Given the description of an element on the screen output the (x, y) to click on. 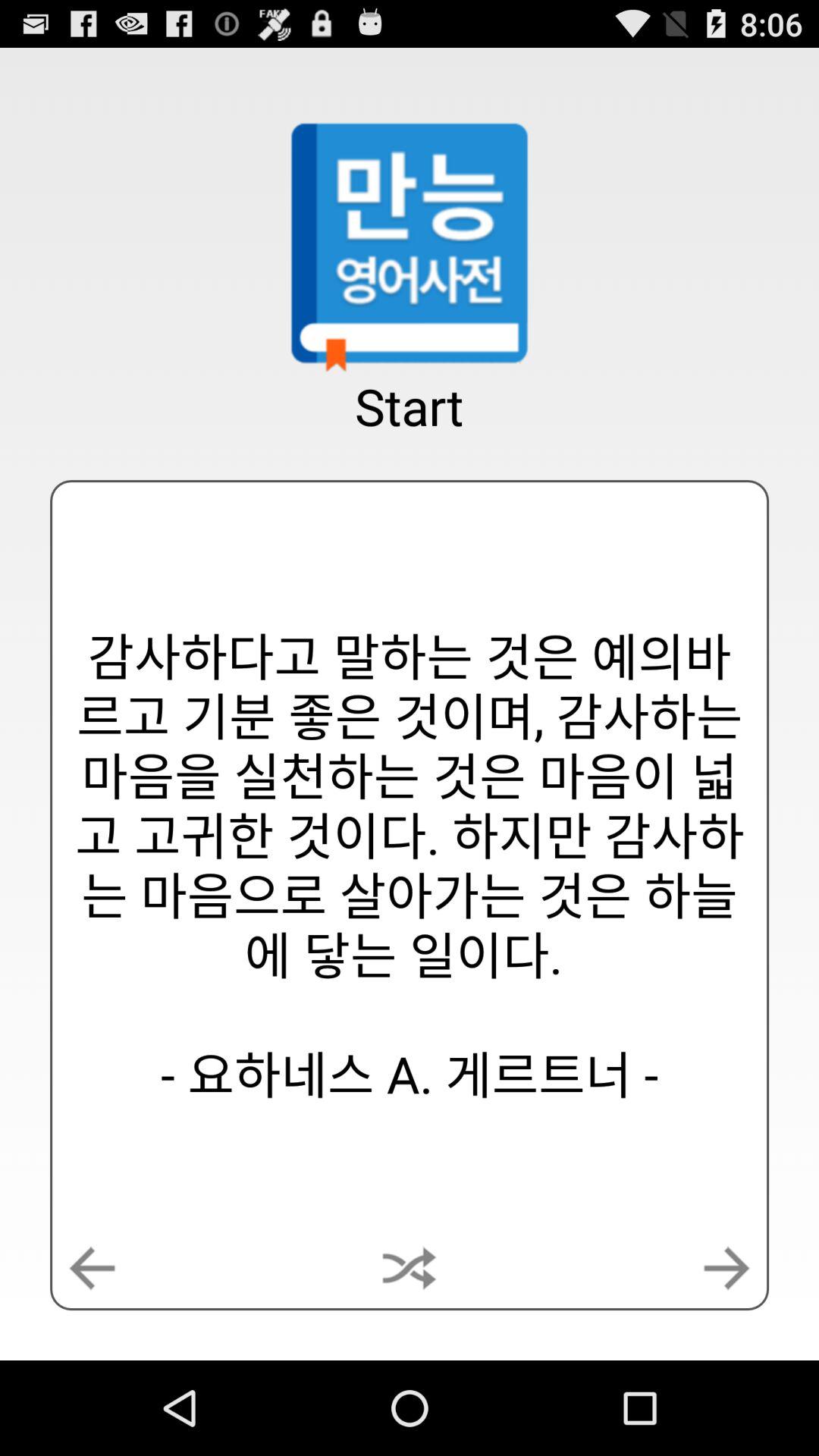
open item at the center (409, 865)
